Given the description of an element on the screen output the (x, y) to click on. 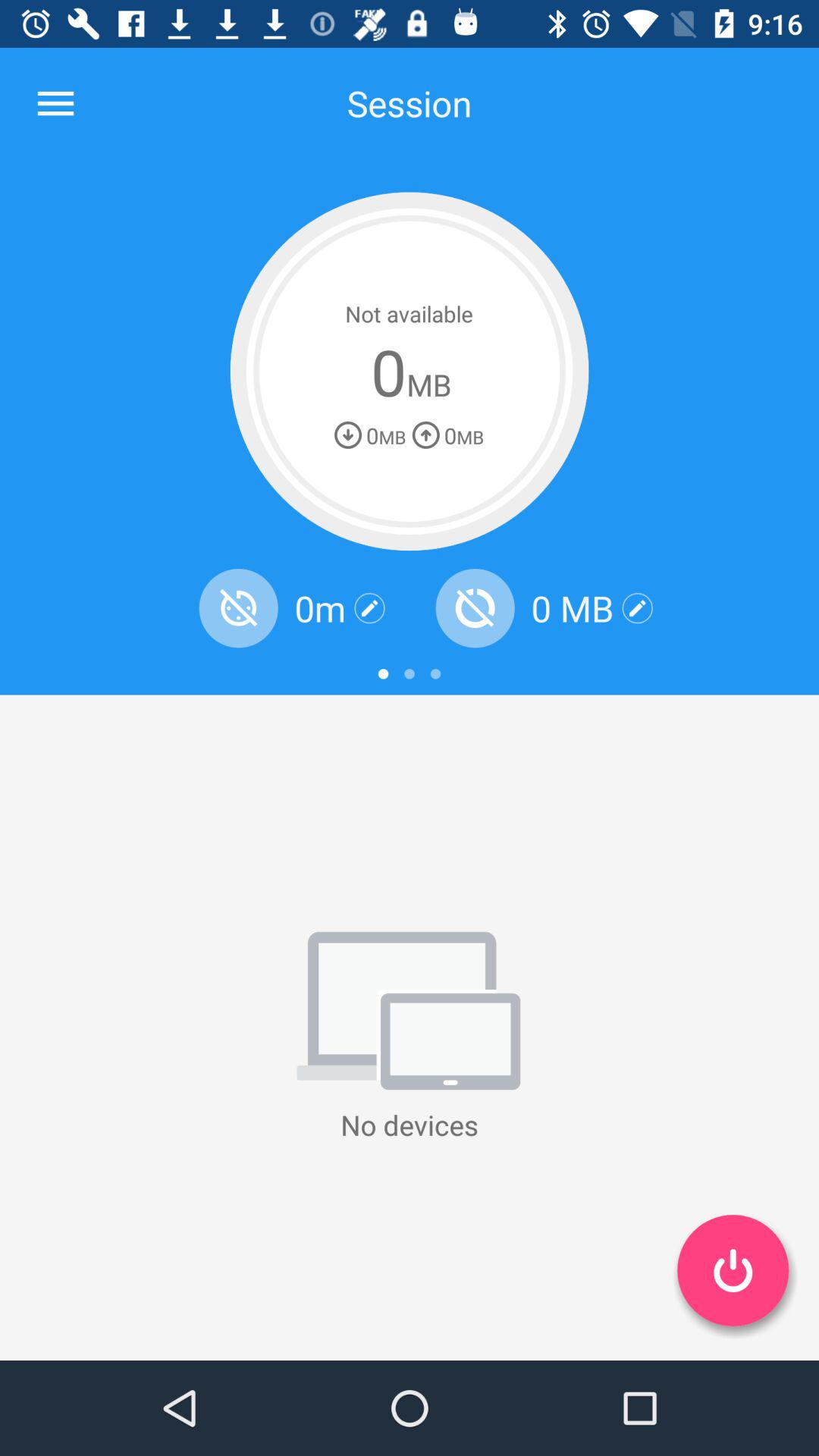
edit mb (637, 608)
